Given the description of an element on the screen output the (x, y) to click on. 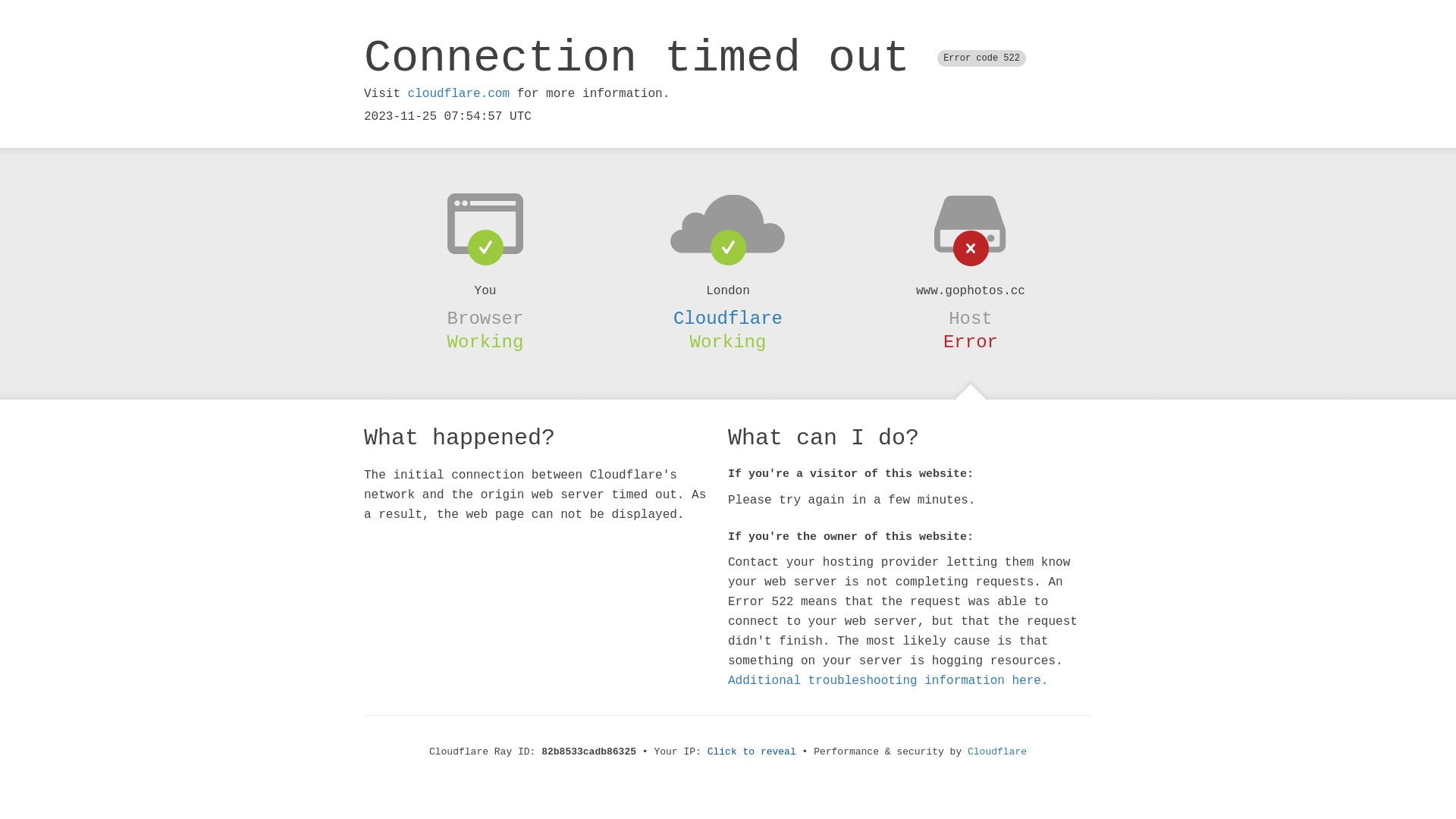
cloudflare.com Element type: text (458, 93)
Cloudflare Element type: text (996, 751)
Additional troubleshooting information here. Element type: text (888, 680)
Click to reveal Element type: text (751, 751)
Cloudflare Element type: text (727, 318)
